Given the description of an element on the screen output the (x, y) to click on. 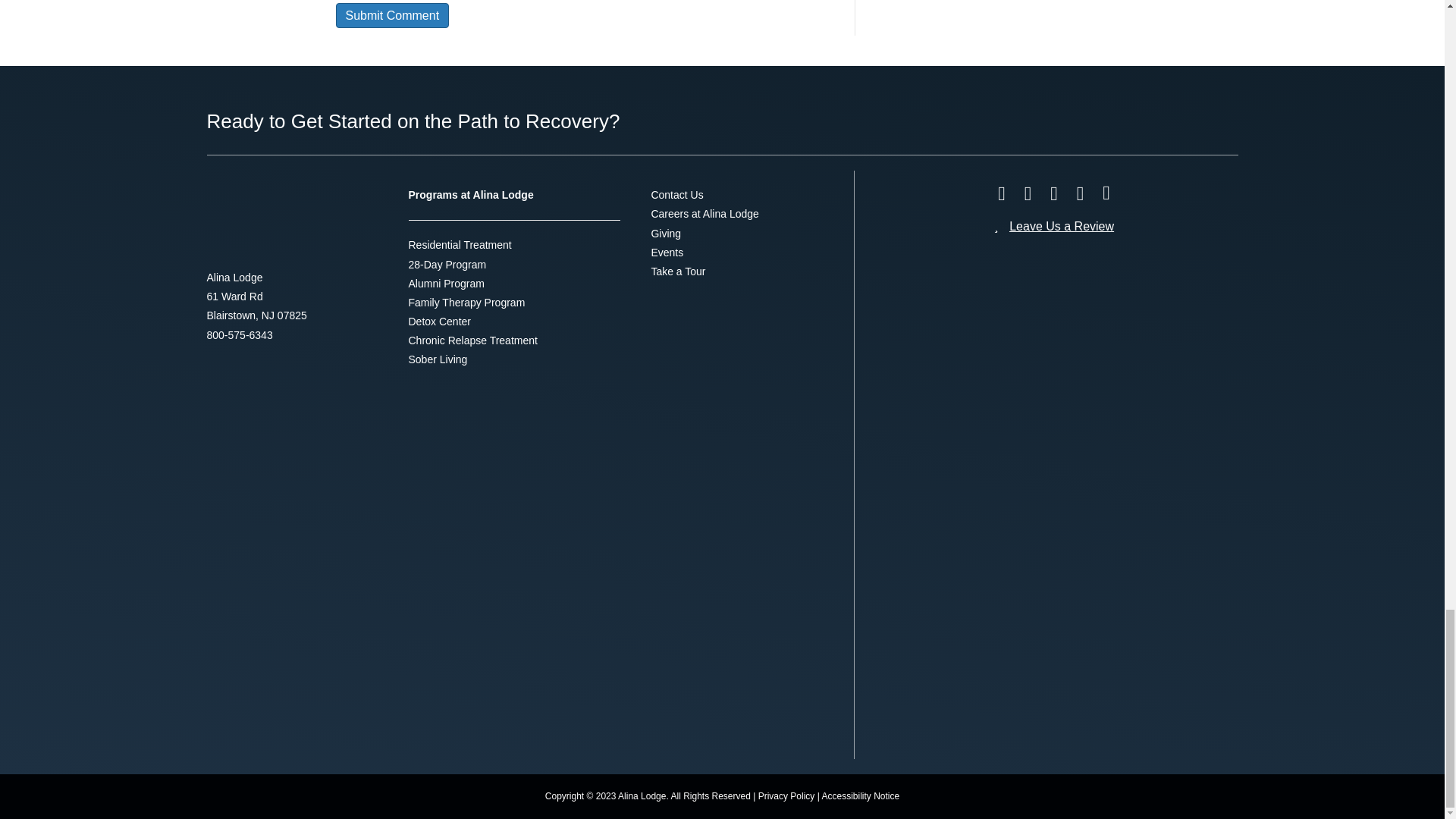
Alina-Lodge-500px (266, 219)
Verify LegitScript Approval (1127, 542)
Submit Comment (391, 15)
